Given the description of an element on the screen output the (x, y) to click on. 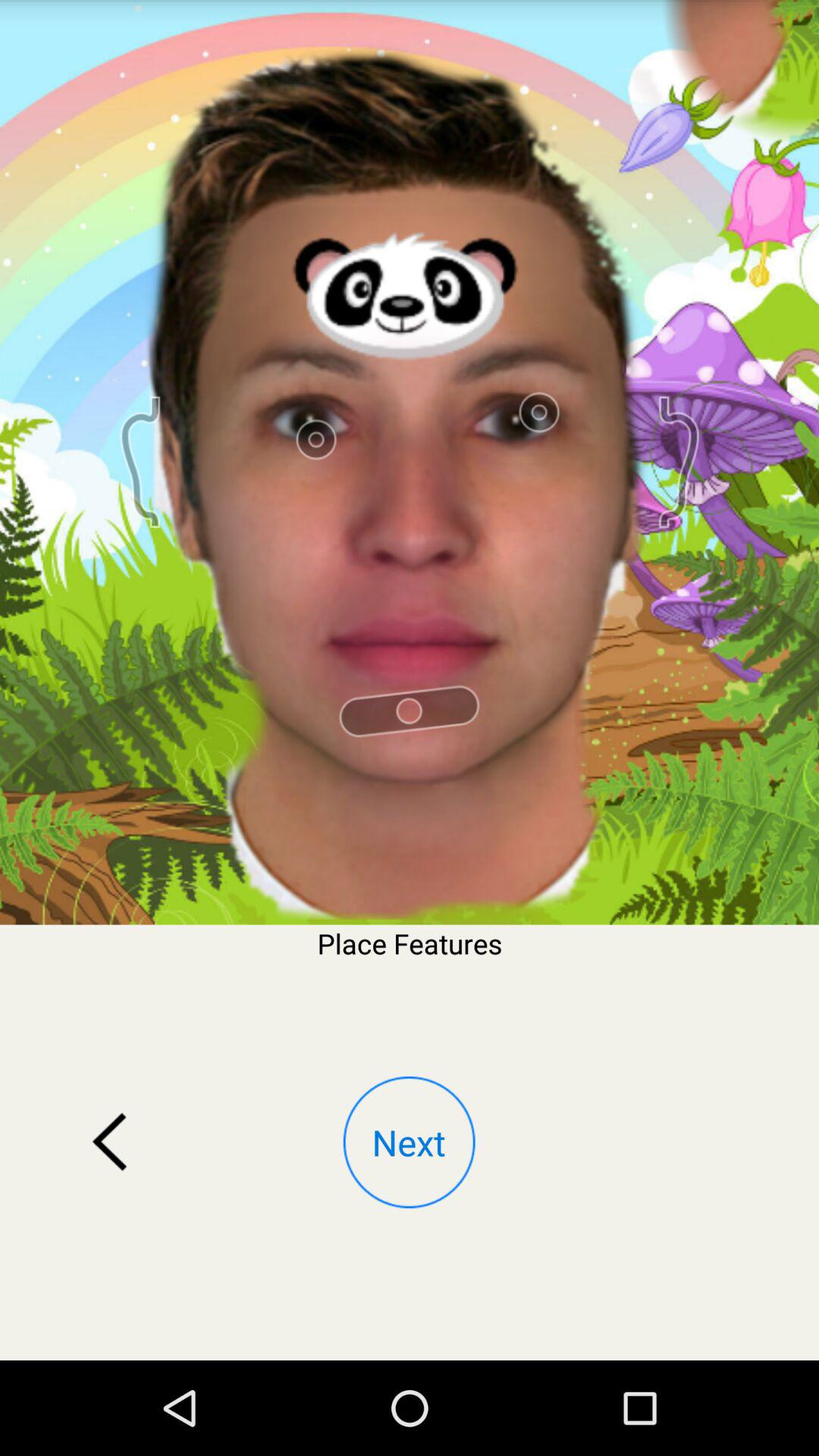
go back (109, 1142)
